Given the description of an element on the screen output the (x, y) to click on. 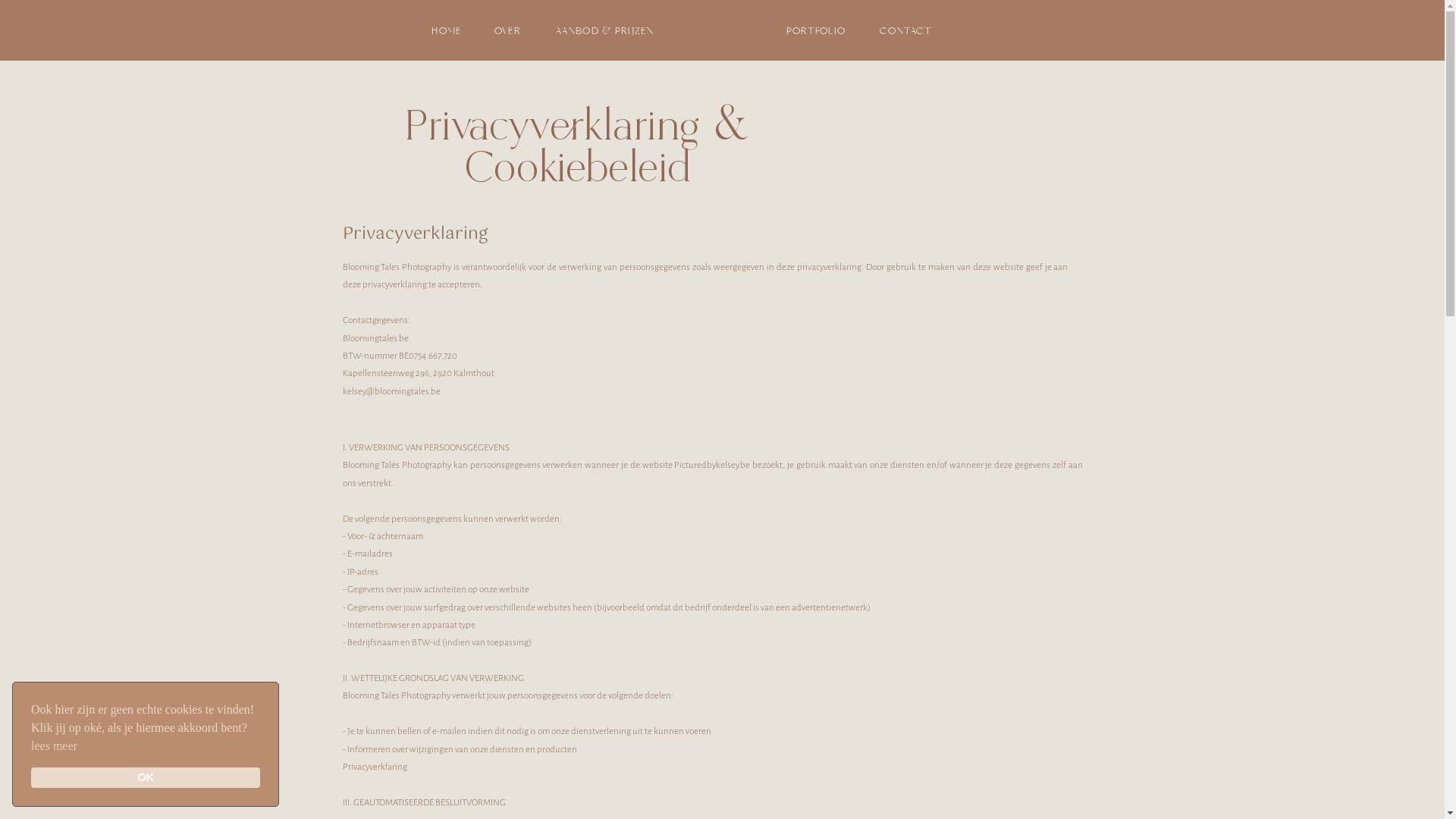
OK Element type: text (145, 777)
PORTFOLIO Element type: text (816, 30)
CONTACT Element type: text (905, 30)
HOME Element type: text (446, 30)
OVER Element type: text (506, 30)
AANBOD & PRIJZEN Element type: text (605, 30)
lees meer Element type: text (54, 746)
